Given the description of an element on the screen output the (x, y) to click on. 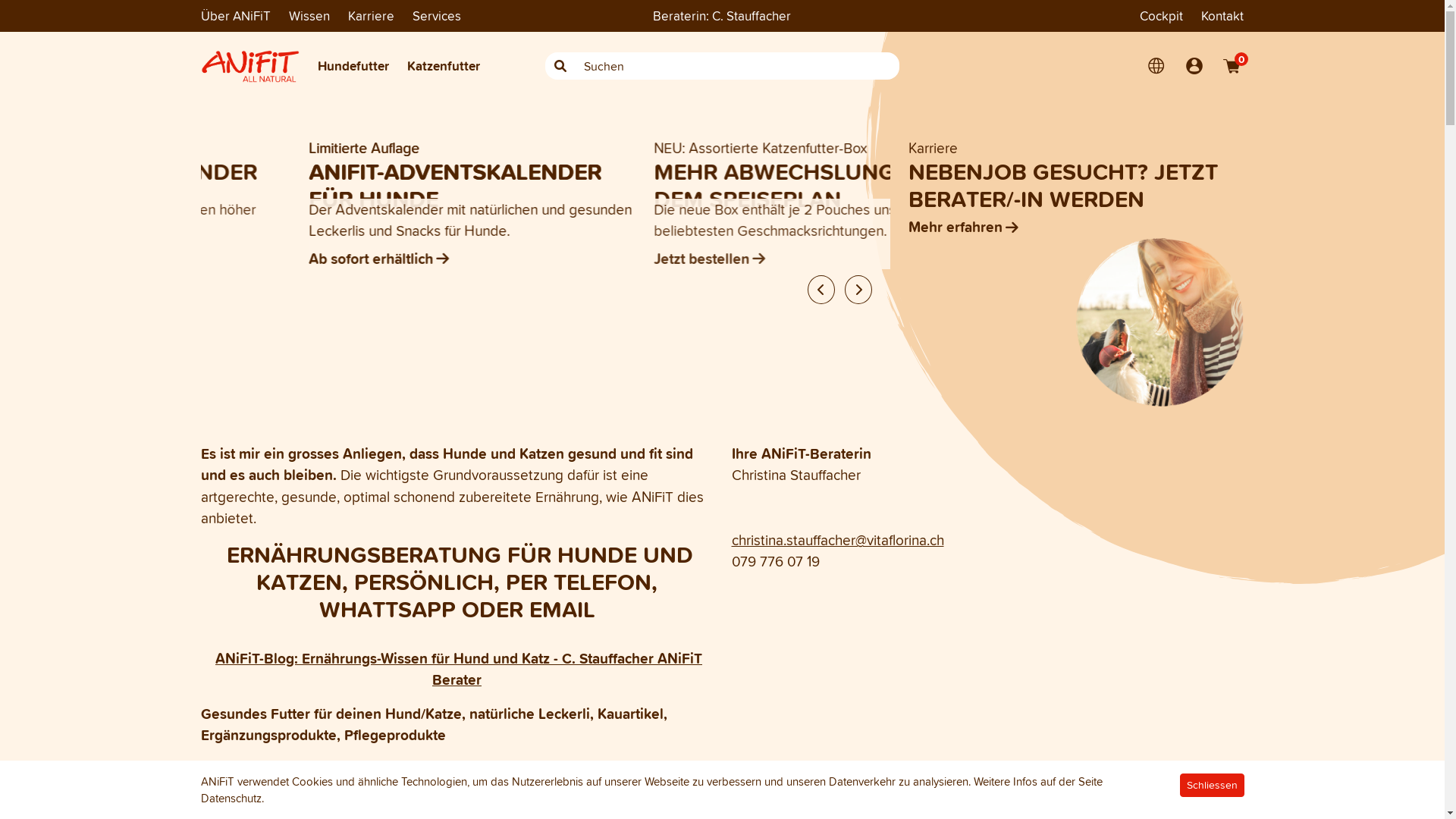
Cockpit Element type: text (1161, 15)
Hundefutter Element type: text (352, 65)
Mehr erfahren Element type: text (1076, 227)
Karriere Element type: text (370, 15)
0 Element type: text (1230, 65)
Services Element type: text (436, 15)
Datenschutz Element type: text (230, 798)
Kontakt Element type: text (1222, 15)
Katzenfutter Element type: text (442, 65)
Wissen Element type: text (308, 15)
Schliessen Element type: text (1211, 785)
christina.stauffacher@vitaflorina.ch Element type: text (837, 539)
Mehr erfahren Element type: text (363, 258)
